Given the description of an element on the screen output the (x, y) to click on. 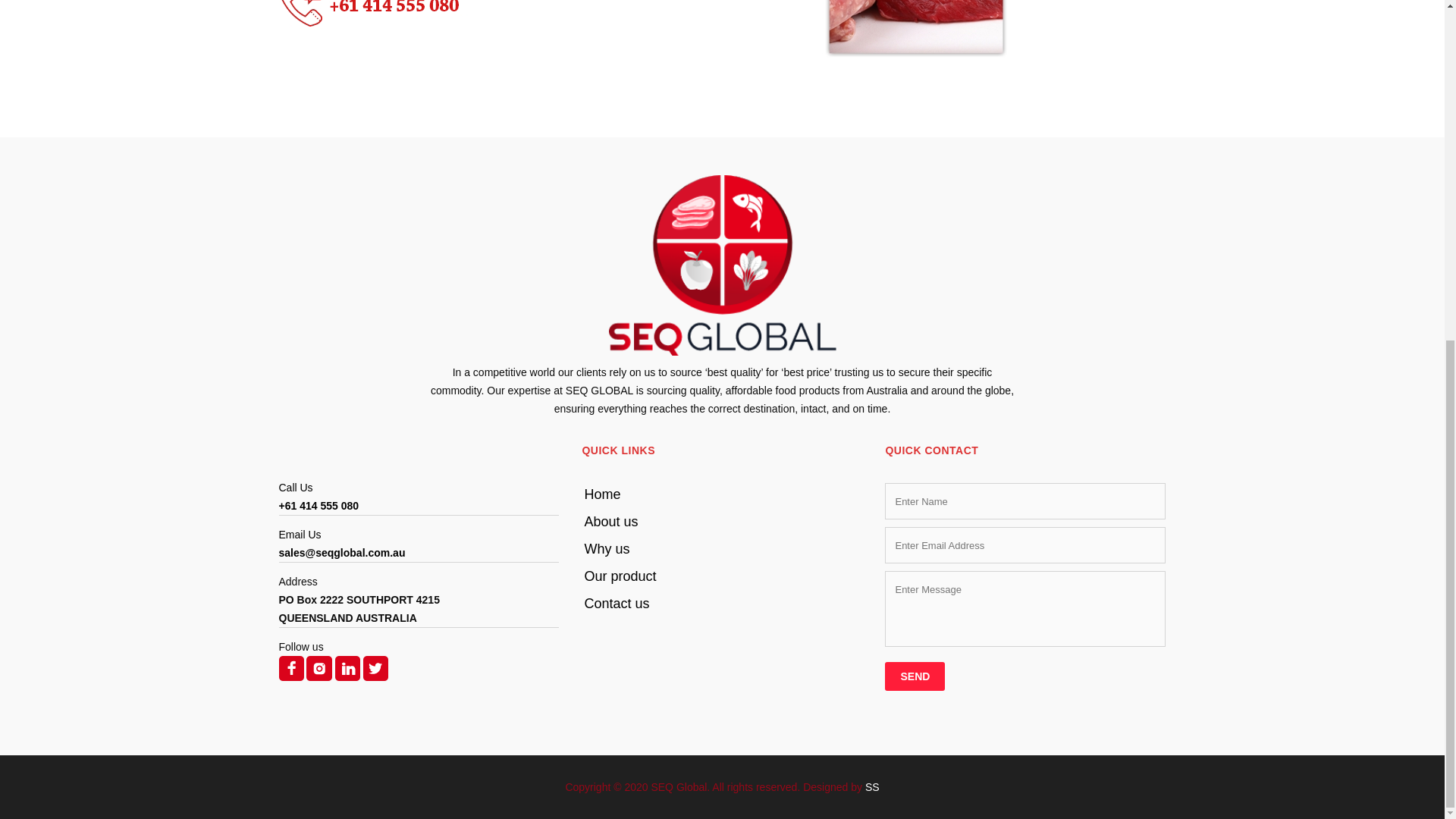
about us (720, 521)
Send (914, 676)
contact us (720, 603)
Send (914, 676)
our product (720, 576)
home (720, 494)
SS (871, 787)
why us (720, 548)
